Given the description of an element on the screen output the (x, y) to click on. 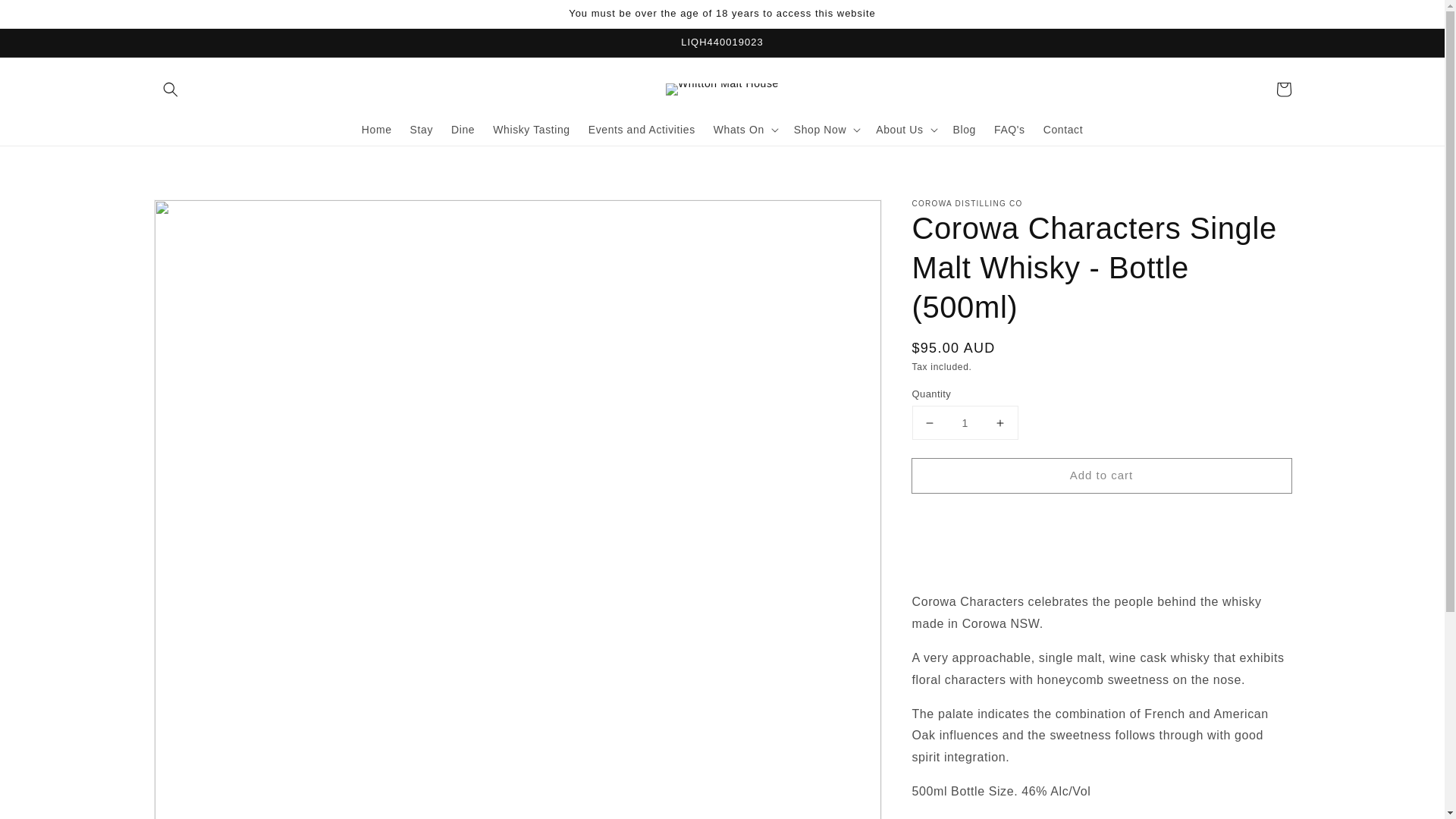
Whisky Tasting (531, 129)
Dine (462, 129)
Stay (421, 129)
Events and Activities (641, 129)
Home (376, 129)
Skip to content (45, 16)
1 (964, 422)
